Given the description of an element on the screen output the (x, y) to click on. 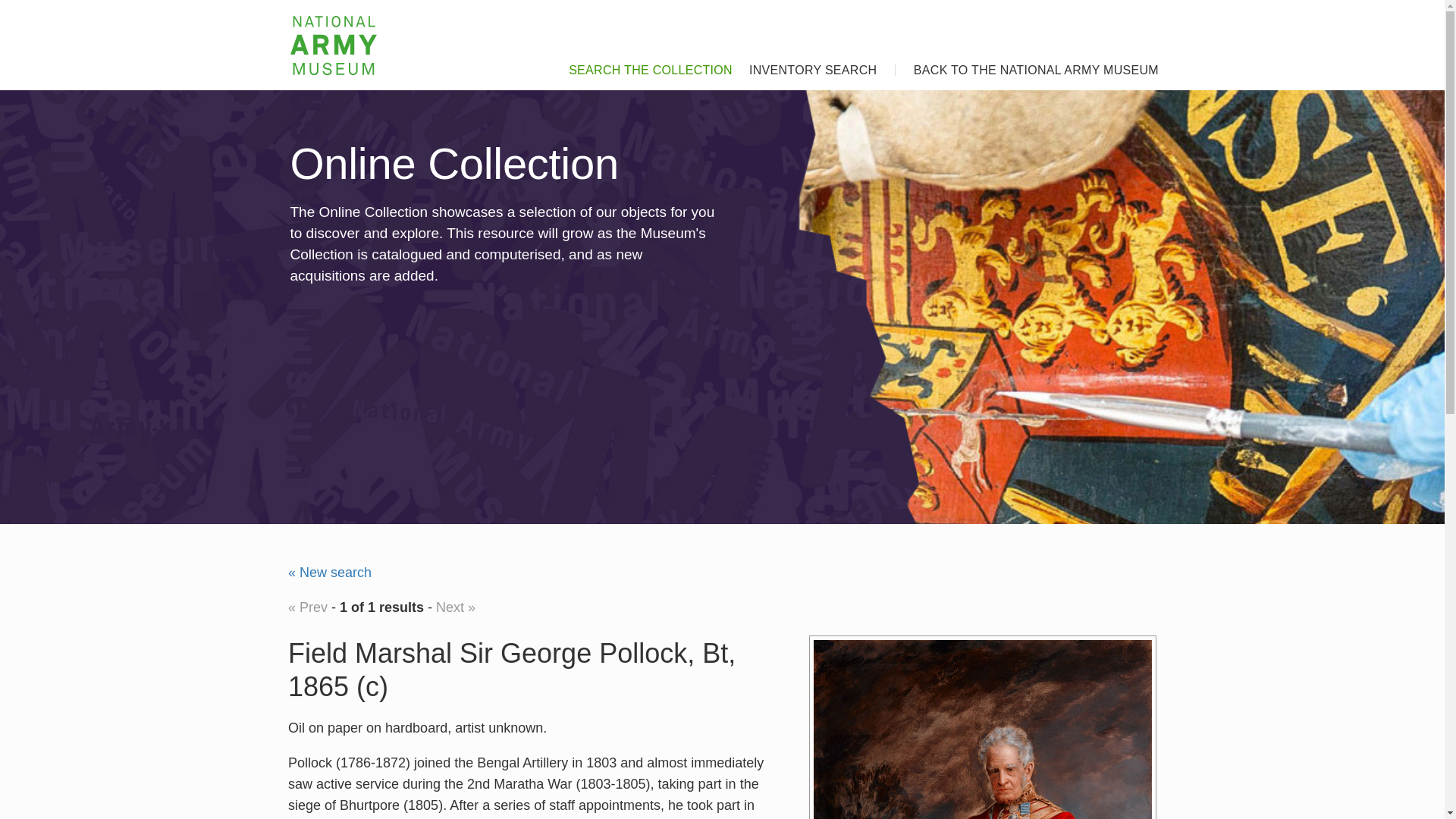
SEARCH THE COLLECTION (641, 65)
National Army Museum (333, 45)
INVENTORY SEARCH (804, 65)
BACK TO THE NATIONAL ARMY MUSEUM (1027, 65)
